Given the description of an element on the screen output the (x, y) to click on. 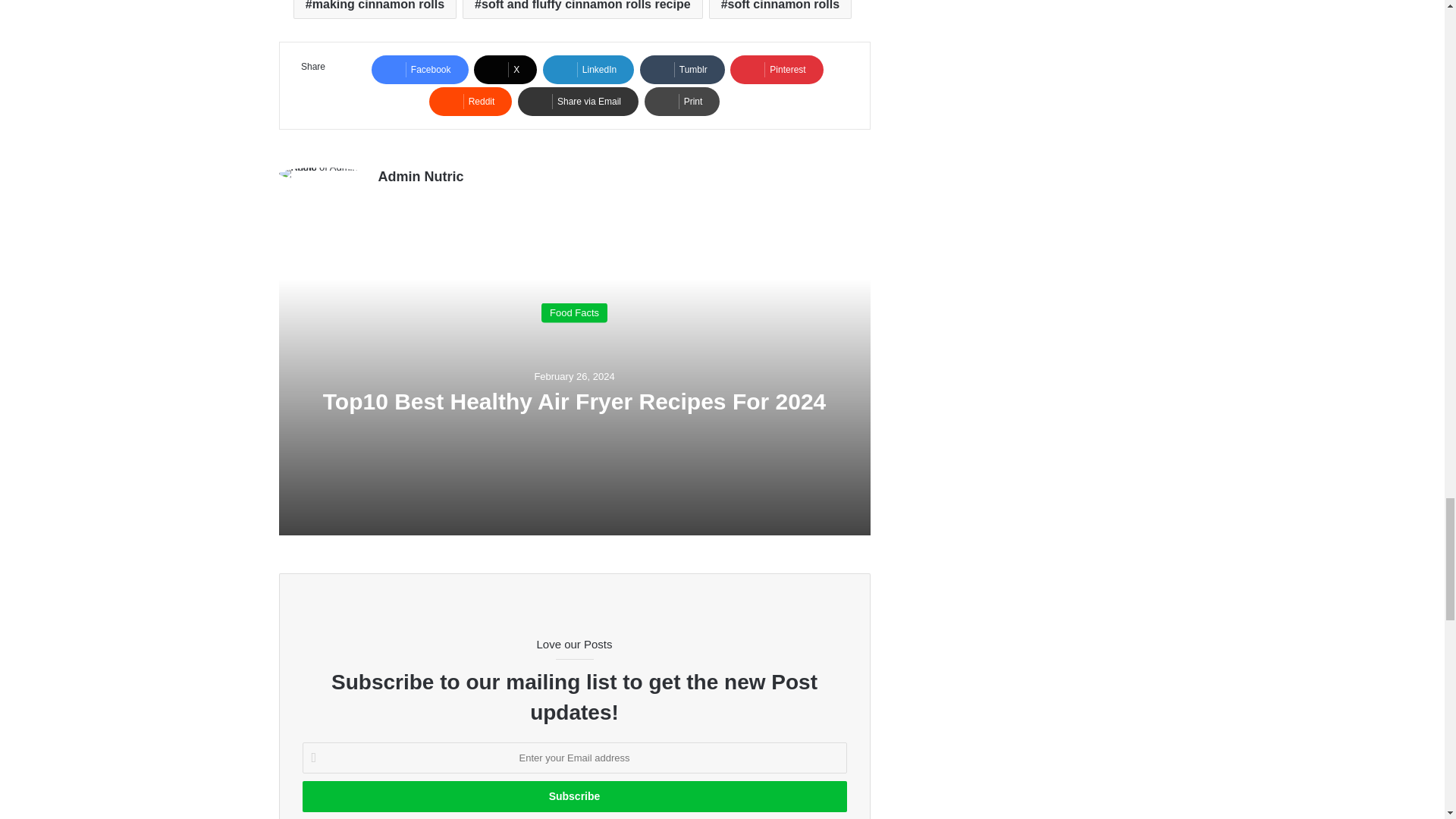
Subscribe (573, 796)
